Given the description of an element on the screen output the (x, y) to click on. 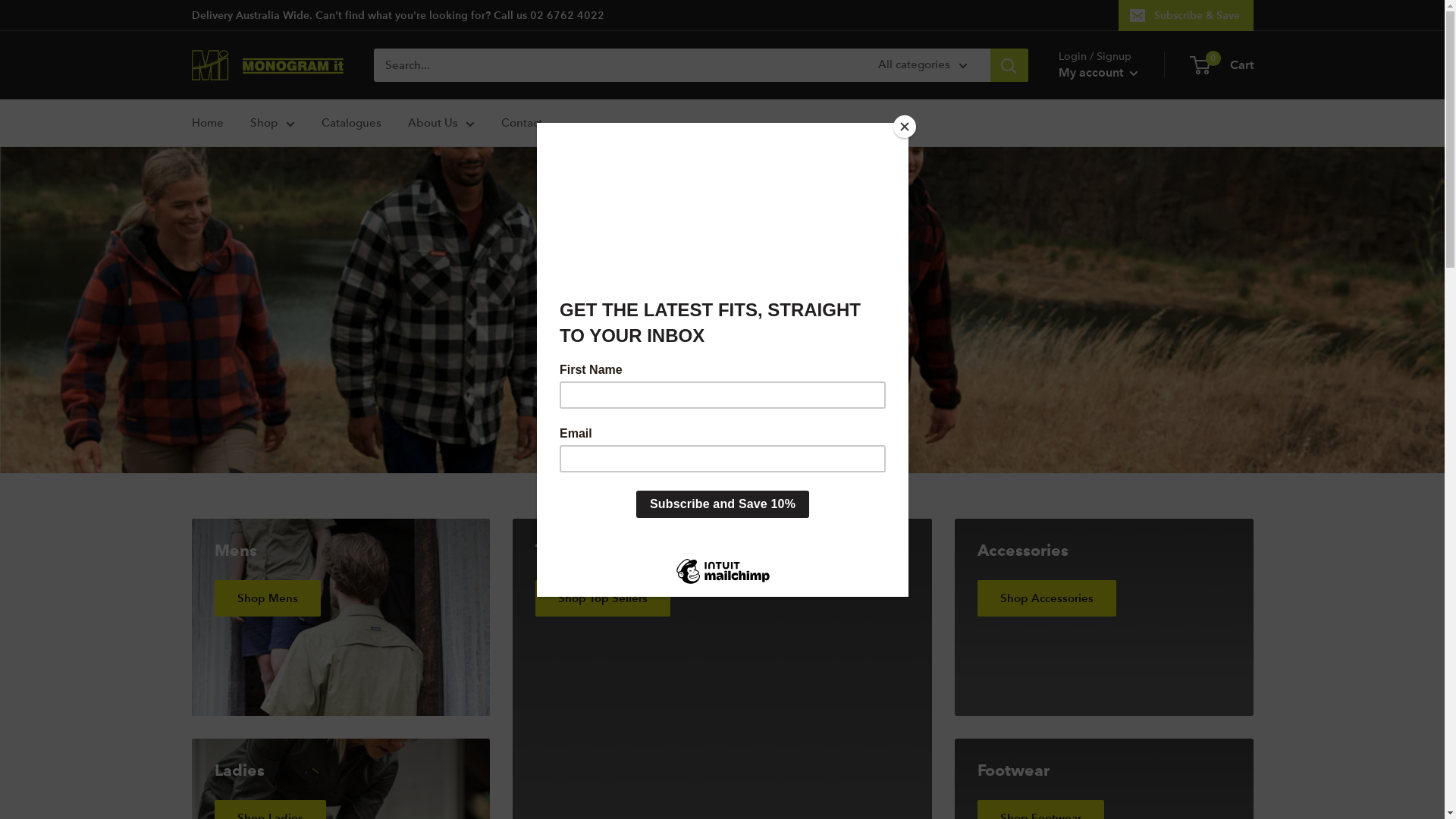
Accessories
Shop Accessories Element type: text (1103, 616)
Contact Element type: text (520, 122)
Shop Element type: text (272, 122)
Monogram It Element type: text (266, 65)
Subscribe & Save Element type: text (1184, 15)
My account Element type: text (1098, 72)
Mens
Shop Mens Element type: text (340, 616)
Home Element type: text (206, 122)
Catalogues Element type: text (351, 122)
0
Cart Element type: text (1221, 64)
About Us Element type: text (440, 122)
